Given the description of an element on the screen output the (x, y) to click on. 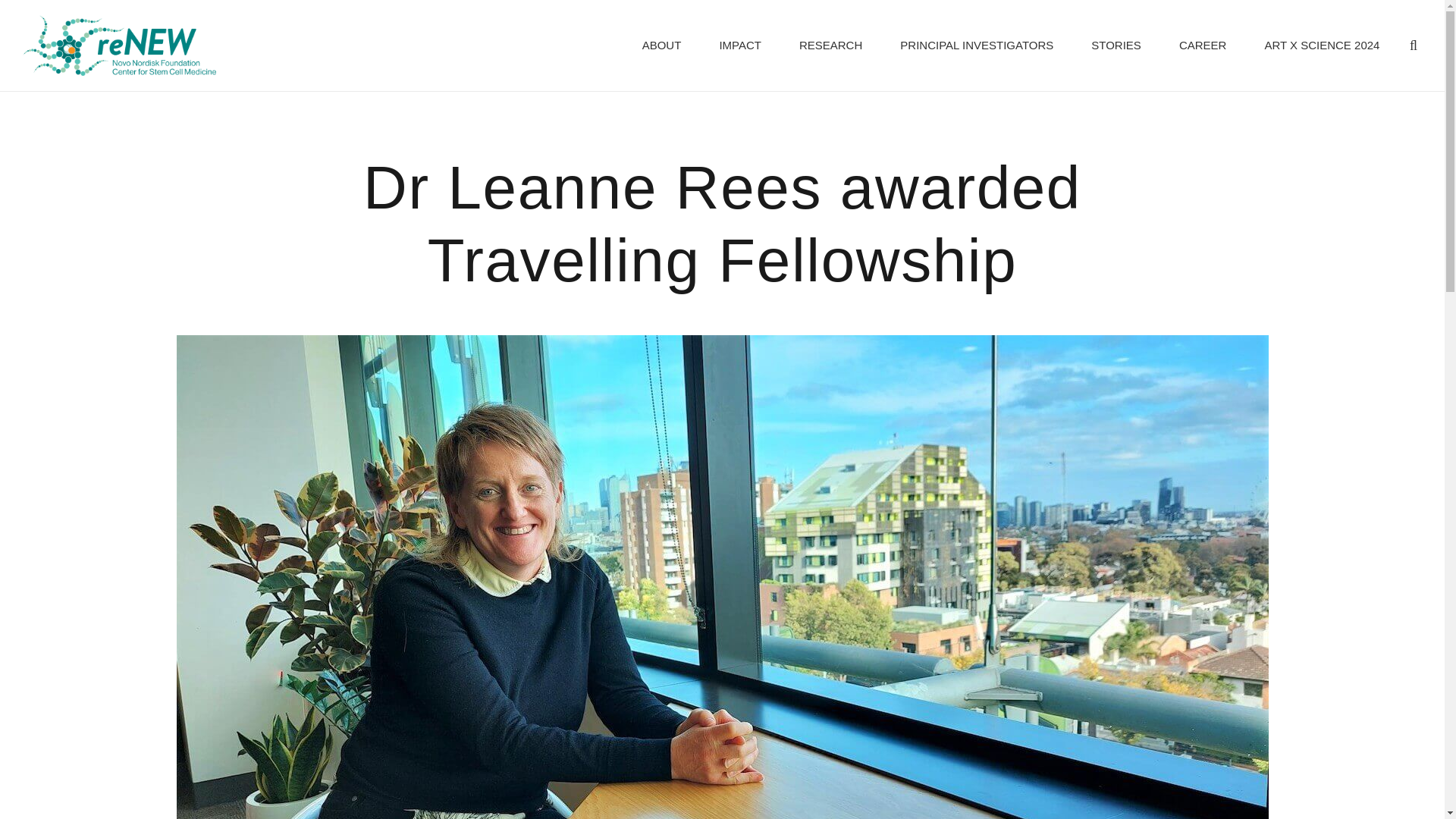
PRINCIPAL INVESTIGATORS (975, 45)
STORIES (1115, 45)
RESEARCH (830, 45)
CAREER (1203, 45)
ART X SCIENCE 2024 (1320, 45)
